Given the description of an element on the screen output the (x, y) to click on. 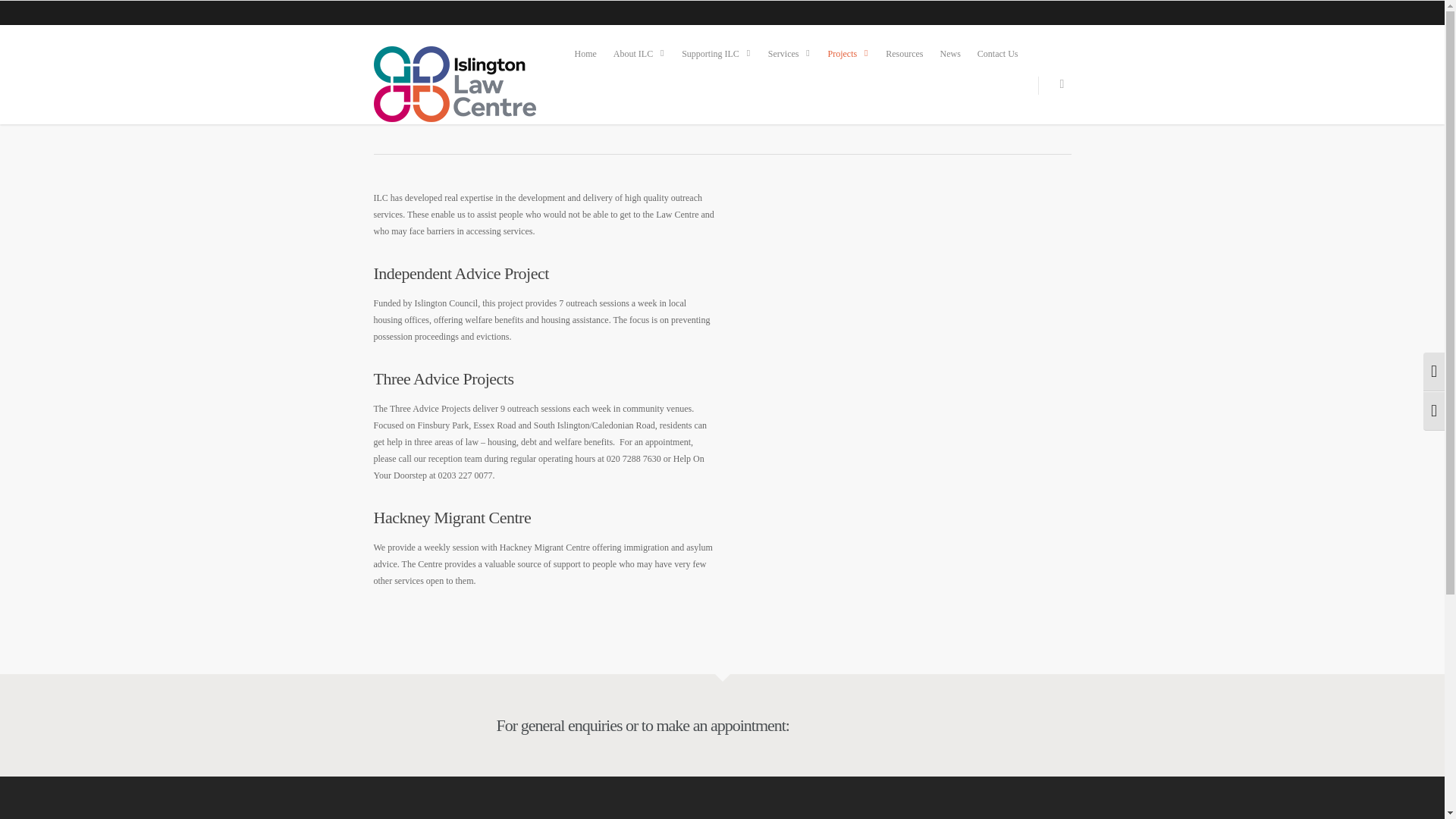
Contact Us (997, 53)
Supporting ILC (716, 53)
News (950, 53)
Resources (903, 53)
Services (789, 53)
About ILC (638, 53)
Home (585, 53)
Projects (849, 53)
